Given the description of an element on the screen output the (x, y) to click on. 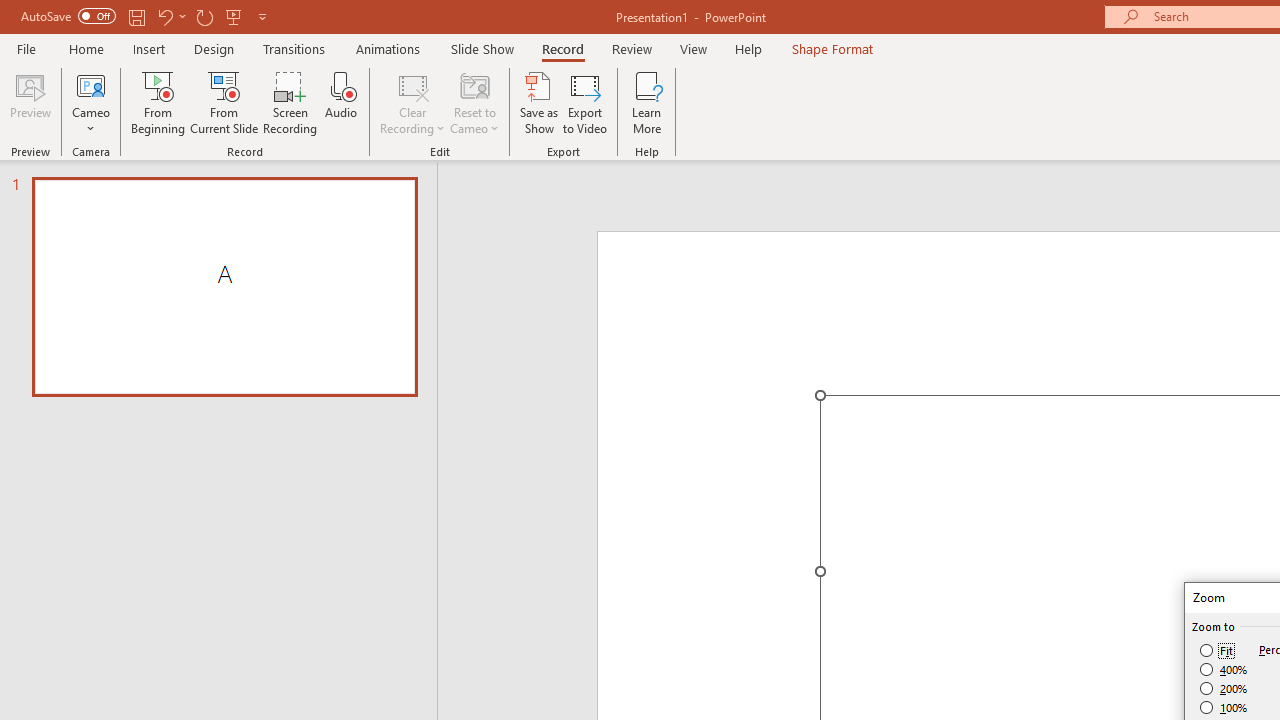
From Beginning... (158, 102)
200% (1224, 688)
100% (1224, 707)
Clear Recording (412, 102)
